Given the description of an element on the screen output the (x, y) to click on. 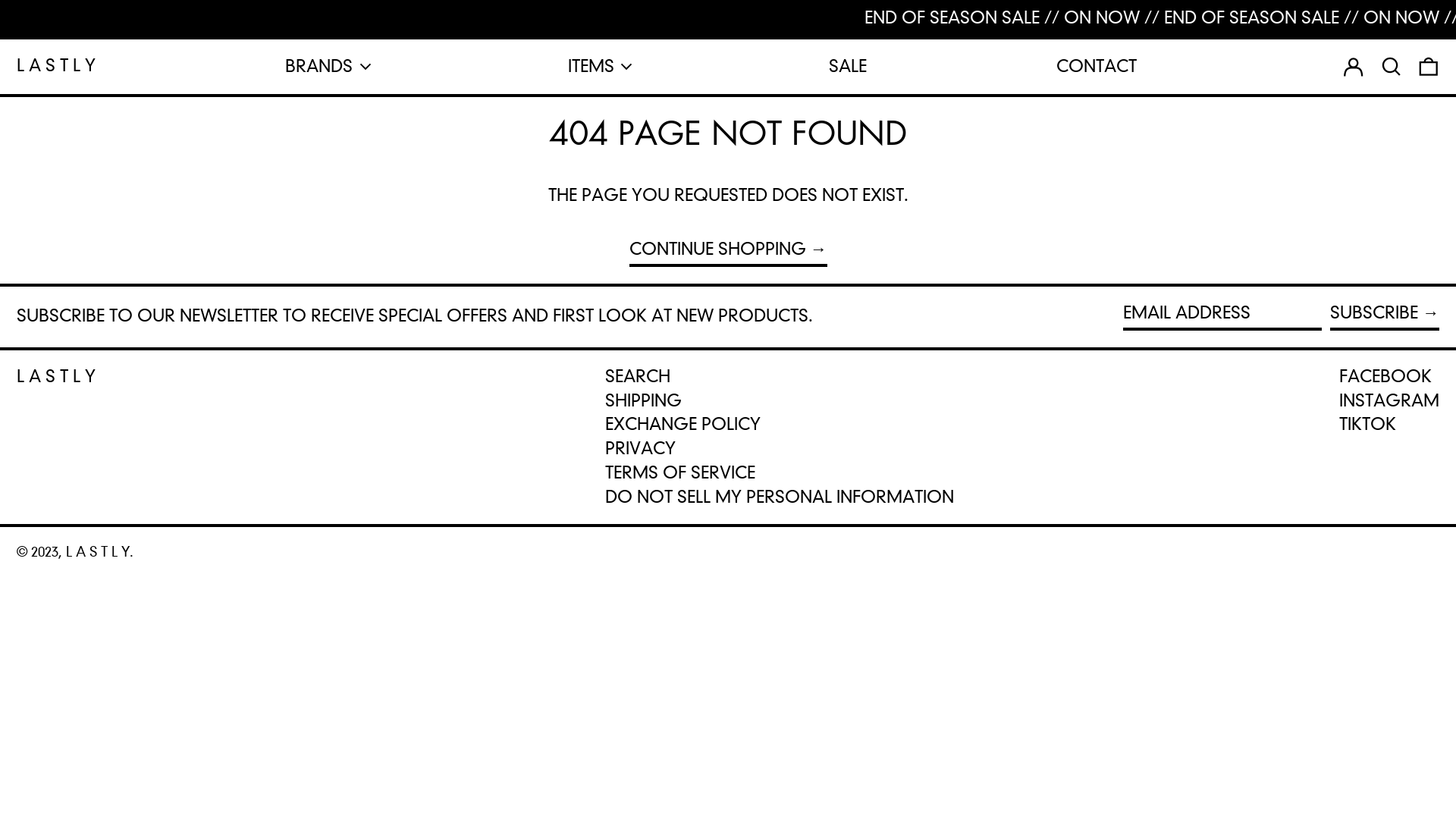
SHIPPING Element type: text (643, 400)
PRIVACY Element type: text (640, 448)
EXCHANGE POLICY Element type: text (682, 424)
SEARCH Element type: text (637, 376)
CONTACT Element type: text (1096, 66)
SEARCH Element type: text (1391, 66)
FACEBOOK Element type: text (1385, 376)
INSTAGRAM Element type: text (1389, 401)
0 ITEMS Element type: text (1428, 66)
SALE Element type: text (847, 66)
ITEMS Element type: text (603, 66)
TIKTOK Element type: text (1367, 424)
DO NOT SELL MY PERSONAL INFORMATION Element type: text (779, 496)
L A S T L Y Element type: text (55, 376)
L A S T L Y Element type: text (97, 551)
LOG IN Element type: text (1353, 66)
L A S T L Y Element type: text (55, 65)
TERMS OF SERVICE Element type: text (680, 472)
BRANDS Element type: text (331, 66)
